Given the description of an element on the screen output the (x, y) to click on. 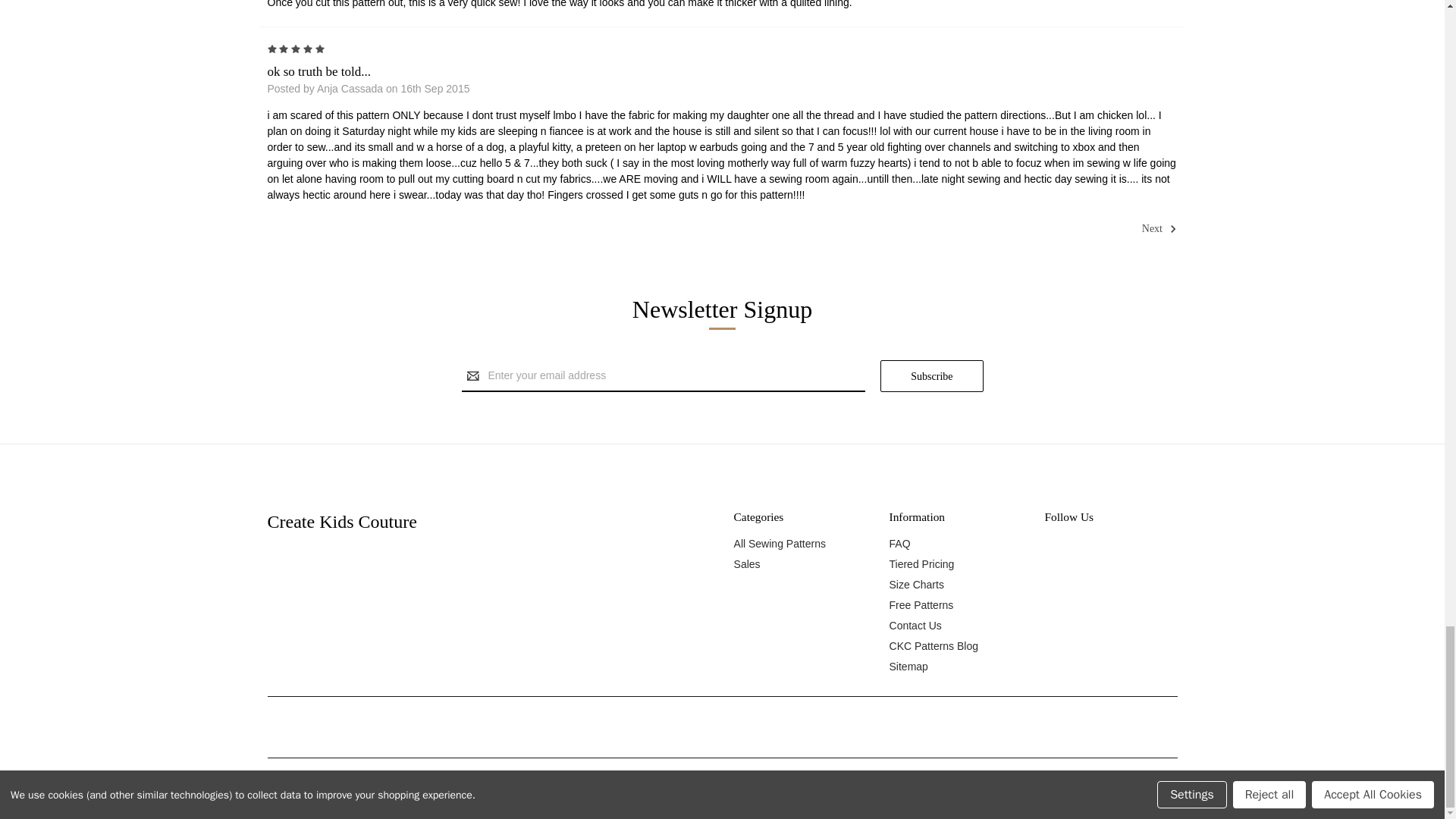
Subscribe (931, 376)
